Given the description of an element on the screen output the (x, y) to click on. 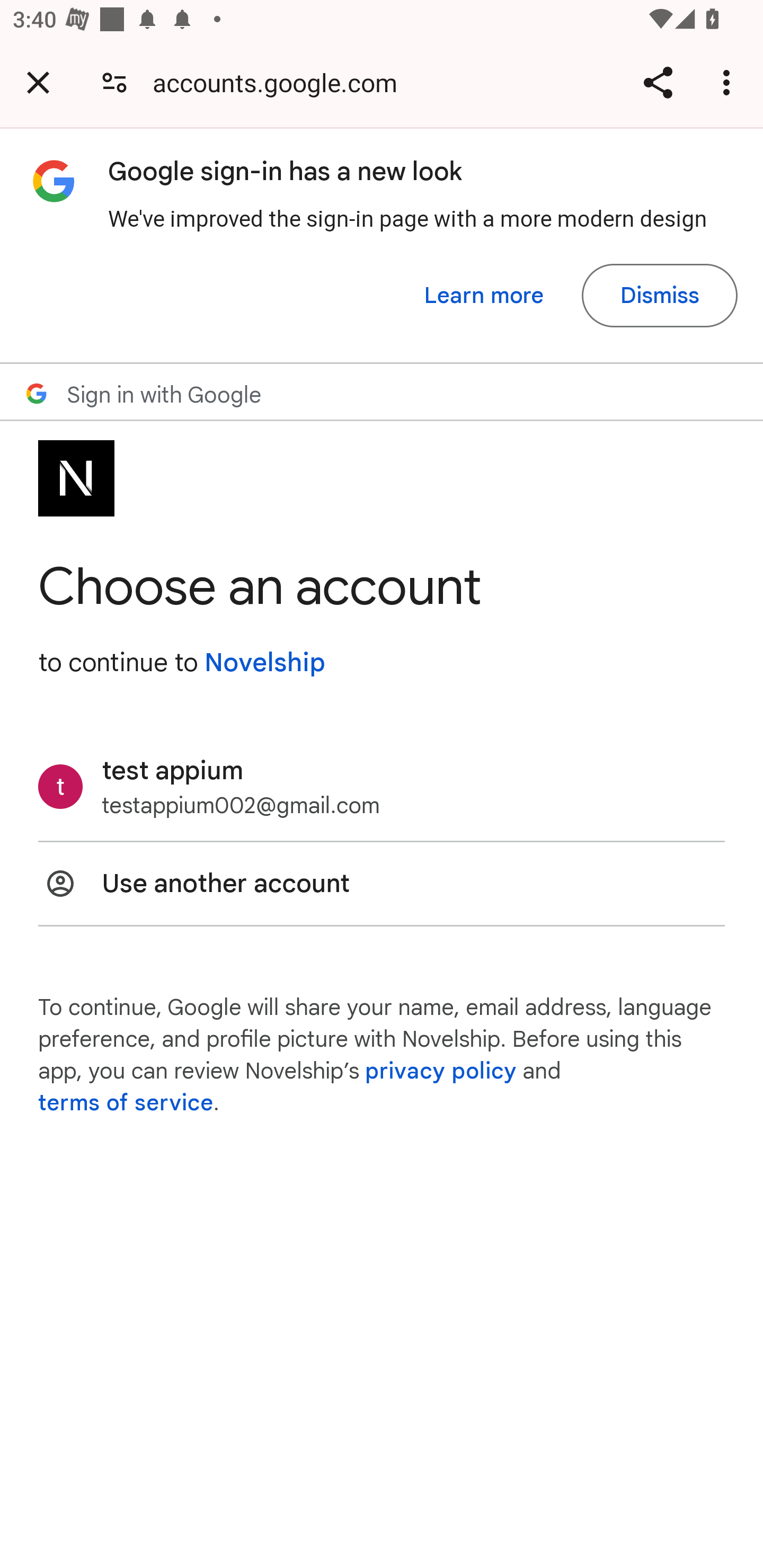
Close tab (38, 82)
Share (657, 82)
Customize and control Google Chrome (729, 82)
Connection is secure (114, 81)
accounts.google.com (281, 81)
Learn more (483, 295)
Dismiss (659, 295)
Novelship (264, 662)
Use another account (381, 883)
privacy policy (440, 1070)
terms of service (126, 1102)
